Given the description of an element on the screen output the (x, y) to click on. 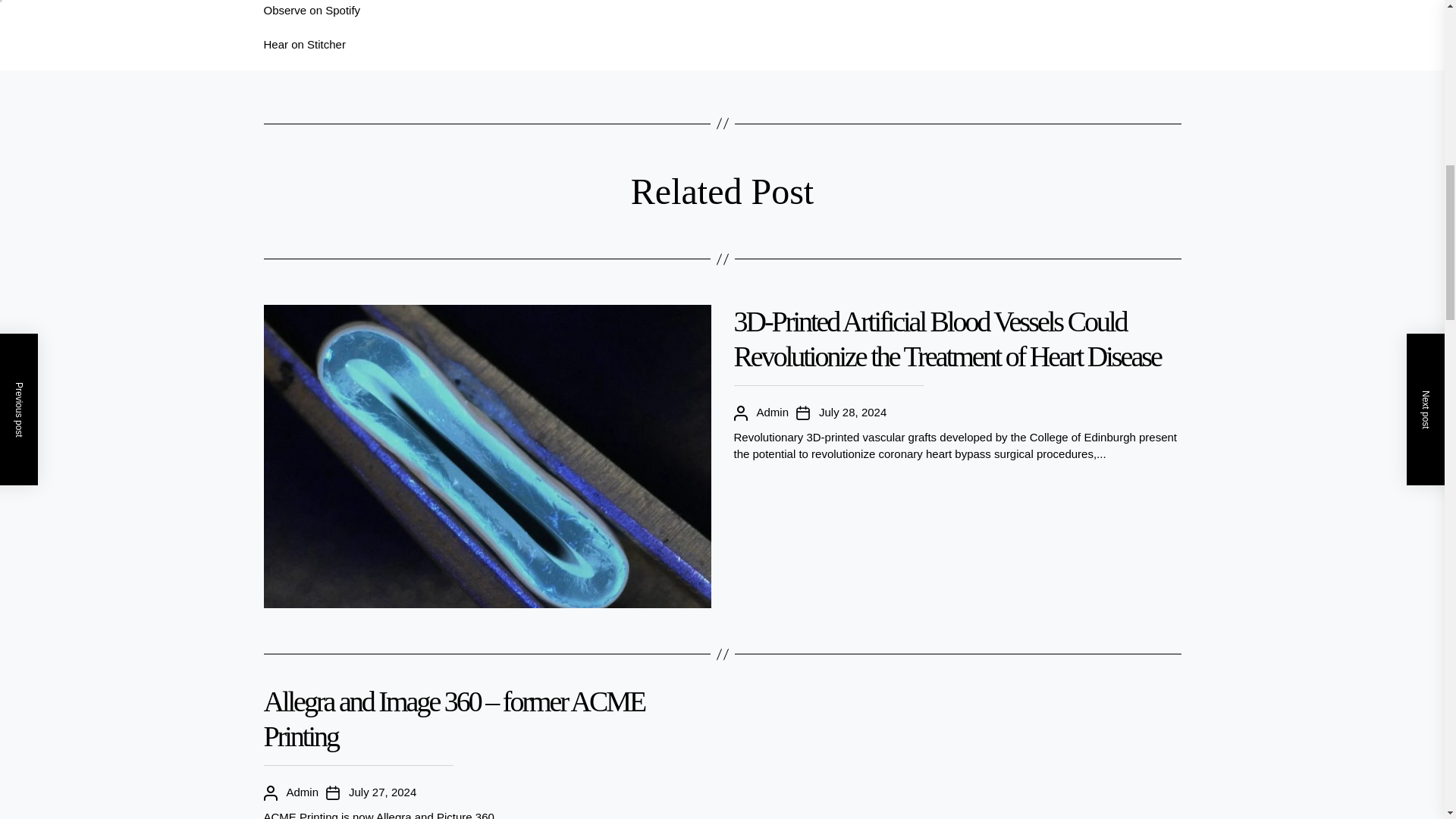
July 28, 2024 (852, 412)
Admin (302, 792)
July 27, 2024 (382, 792)
Admin (773, 412)
